Given the description of an element on the screen output the (x, y) to click on. 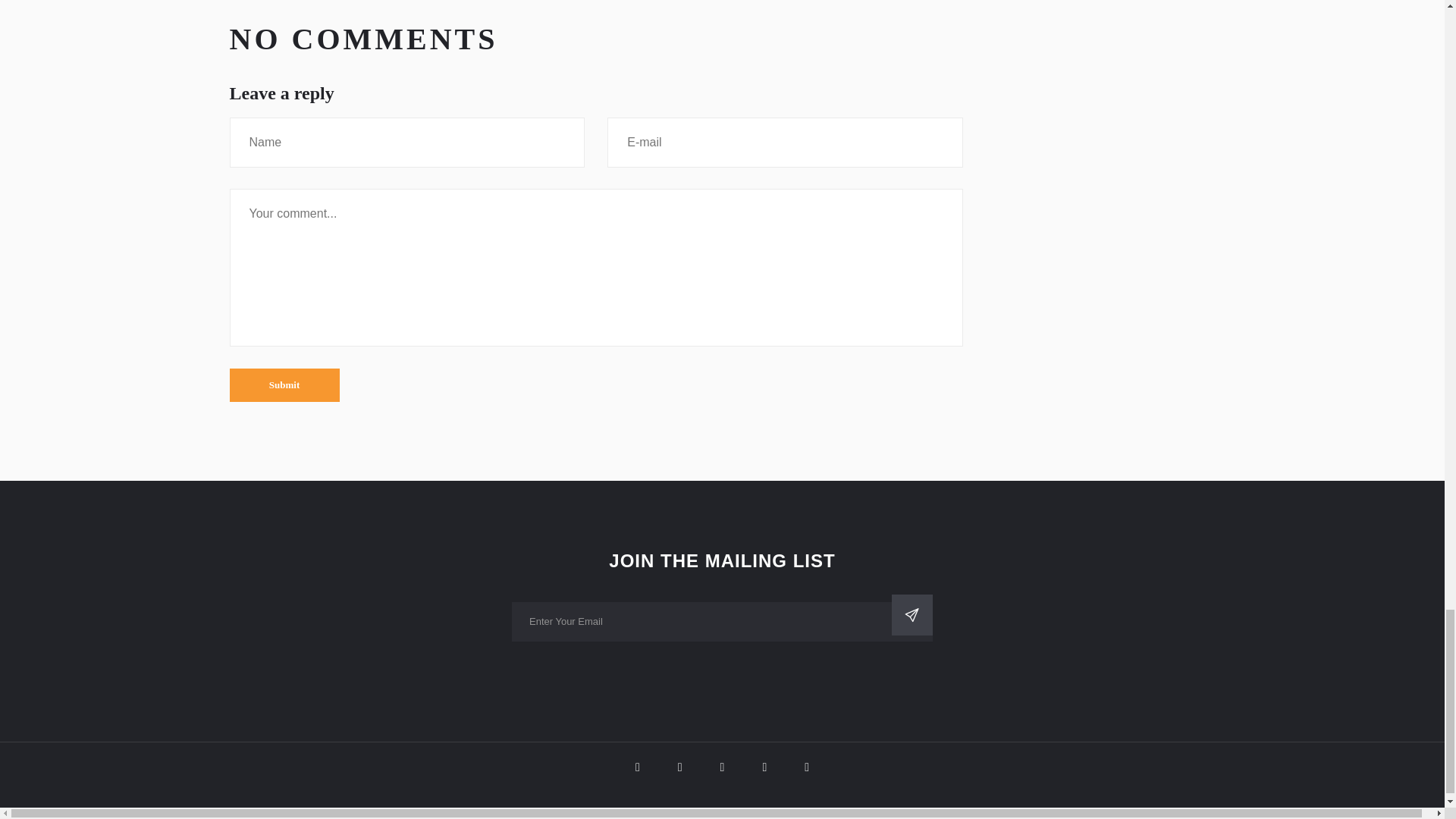
Submit (283, 385)
Subscribe (912, 614)
